Given the description of an element on the screen output the (x, y) to click on. 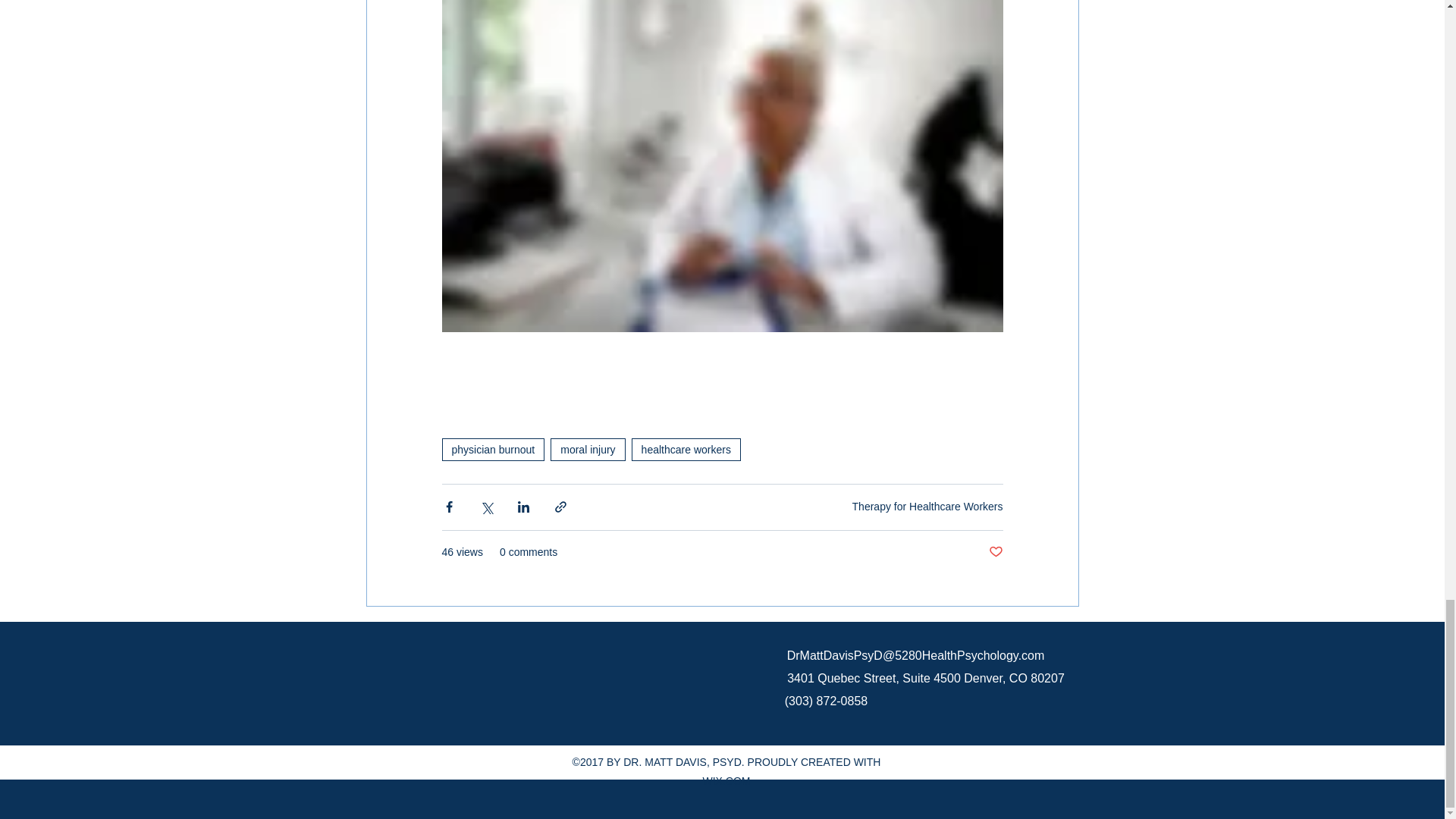
Therapy for Healthcare Workers (927, 506)
physician burnout (492, 449)
moral injury (587, 449)
3401 Quebec Street, Suite 4500 Denver, CO 80207 (925, 677)
Post not marked as liked (995, 552)
healthcare workers (686, 449)
Twitter Follow (461, 697)
